Given the description of an element on the screen output the (x, y) to click on. 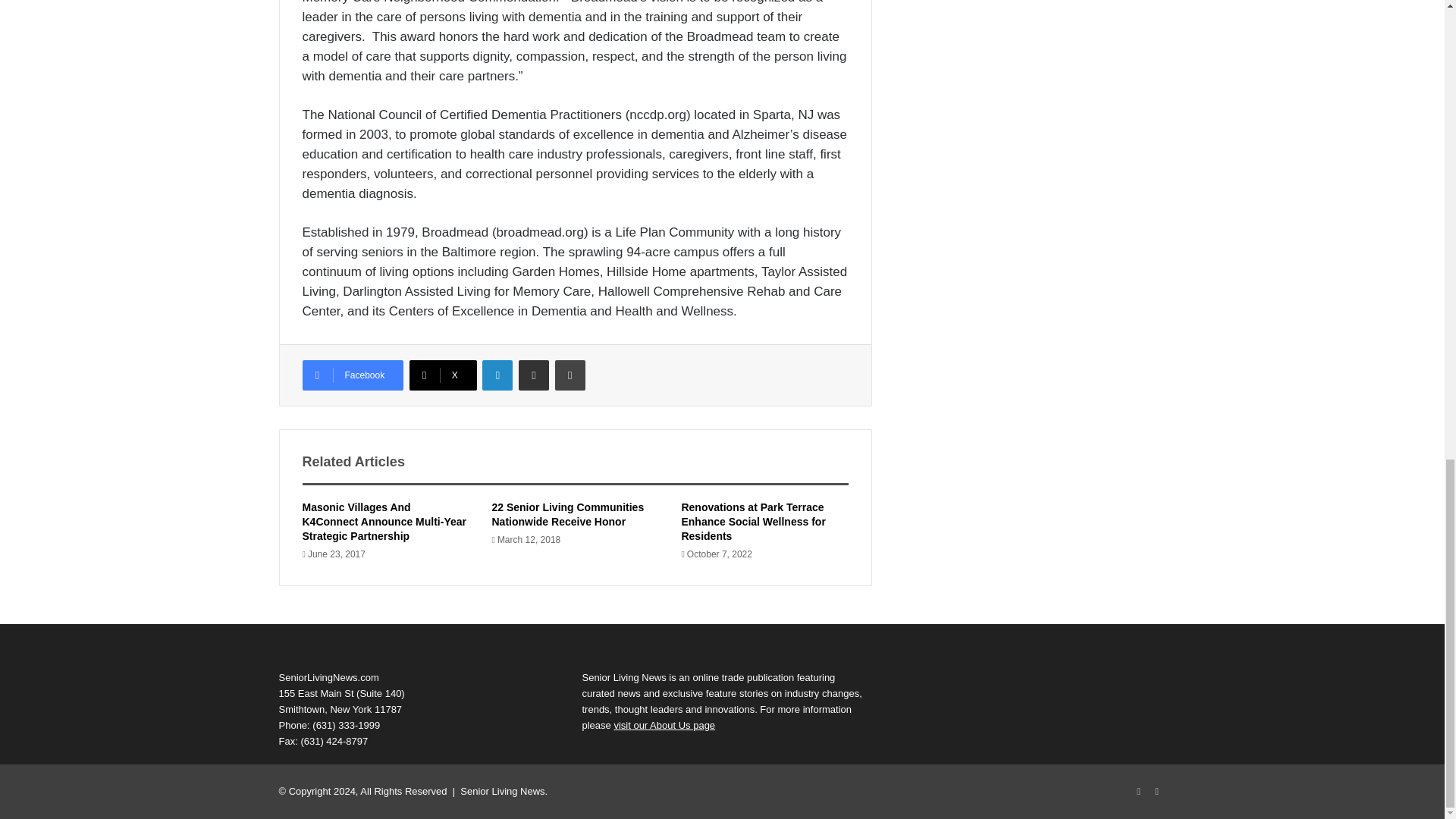
22 Senior Living Communities Nationwide Receive Honor (567, 514)
X (443, 375)
Facebook (352, 375)
Facebook (1138, 791)
visit our About Us page (663, 725)
X (443, 375)
Facebook (352, 375)
LinkedIn (1157, 791)
LinkedIn (496, 375)
Print (569, 375)
Share via Email (533, 375)
Print (569, 375)
LinkedIn (496, 375)
Share via Email (533, 375)
